Given the description of an element on the screen output the (x, y) to click on. 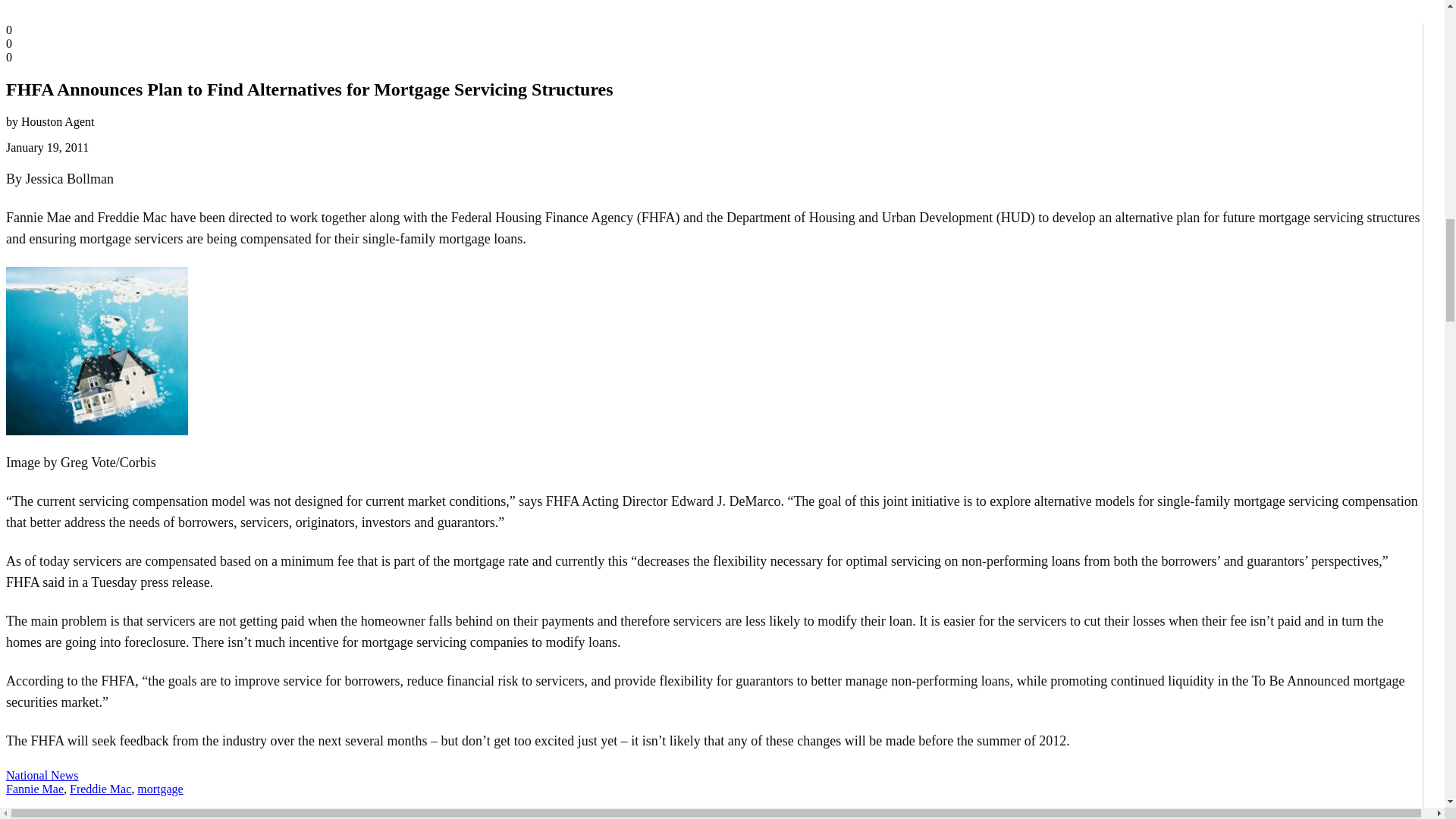
Housing Crisis (96, 350)
